Given the description of an element on the screen output the (x, y) to click on. 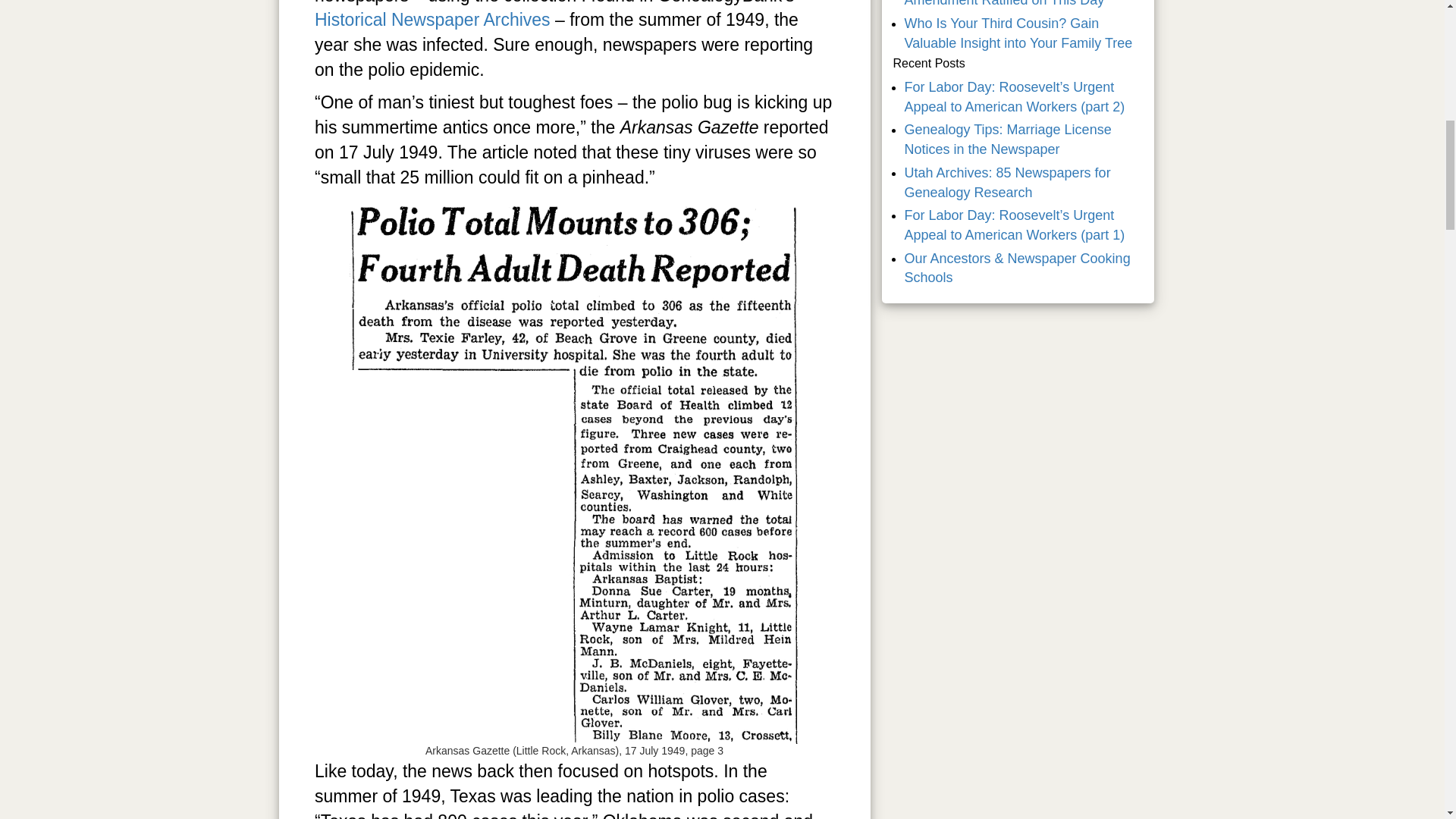
Historical Newspaper Archives (432, 19)
Utah Archives: 85 Newspapers for Genealogy Research (1006, 182)
Genealogy Tips: Marriage License Notices in the Newspaper (1007, 139)
